Given the description of an element on the screen output the (x, y) to click on. 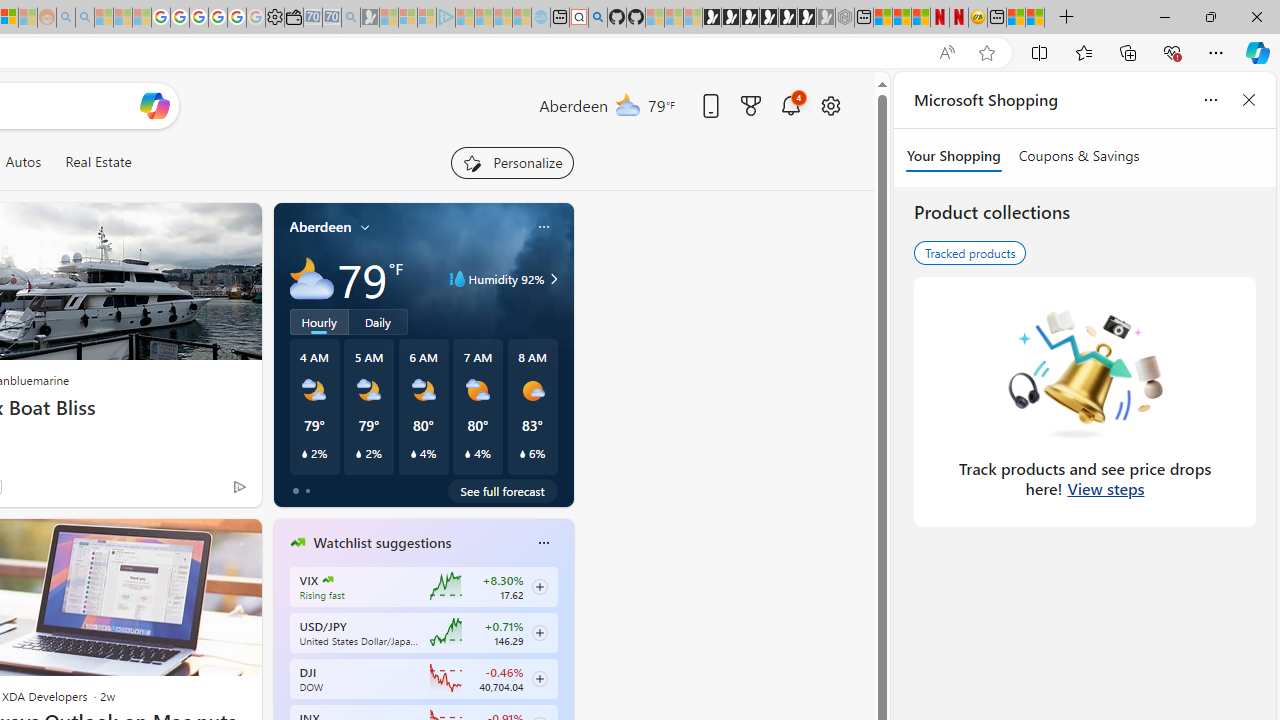
See more (237, 542)
Open settings (830, 105)
Mostly cloudy (311, 278)
Notifications (790, 105)
Aberdeen (320, 227)
